Given the description of an element on the screen output the (x, y) to click on. 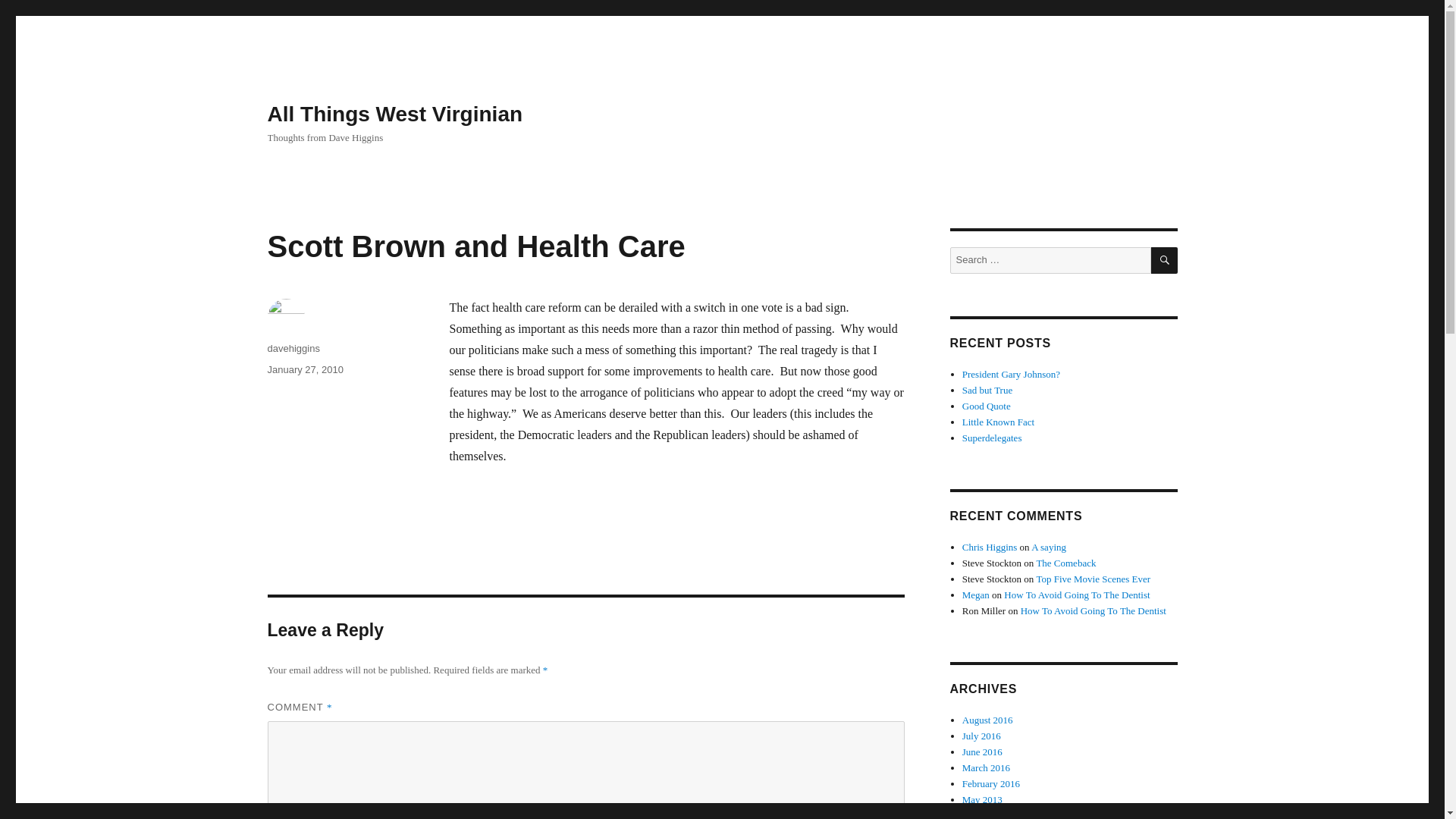
Top Five Movie Scenes Ever (1092, 578)
August 2016 (987, 719)
SEARCH (1164, 260)
March 2016 (986, 767)
Good Quote (986, 405)
Megan (976, 594)
How To Avoid Going To The Dentist (1077, 594)
Superdelegates (992, 437)
January 27, 2010 (304, 369)
Little Known Fact (997, 421)
